Given the description of an element on the screen output the (x, y) to click on. 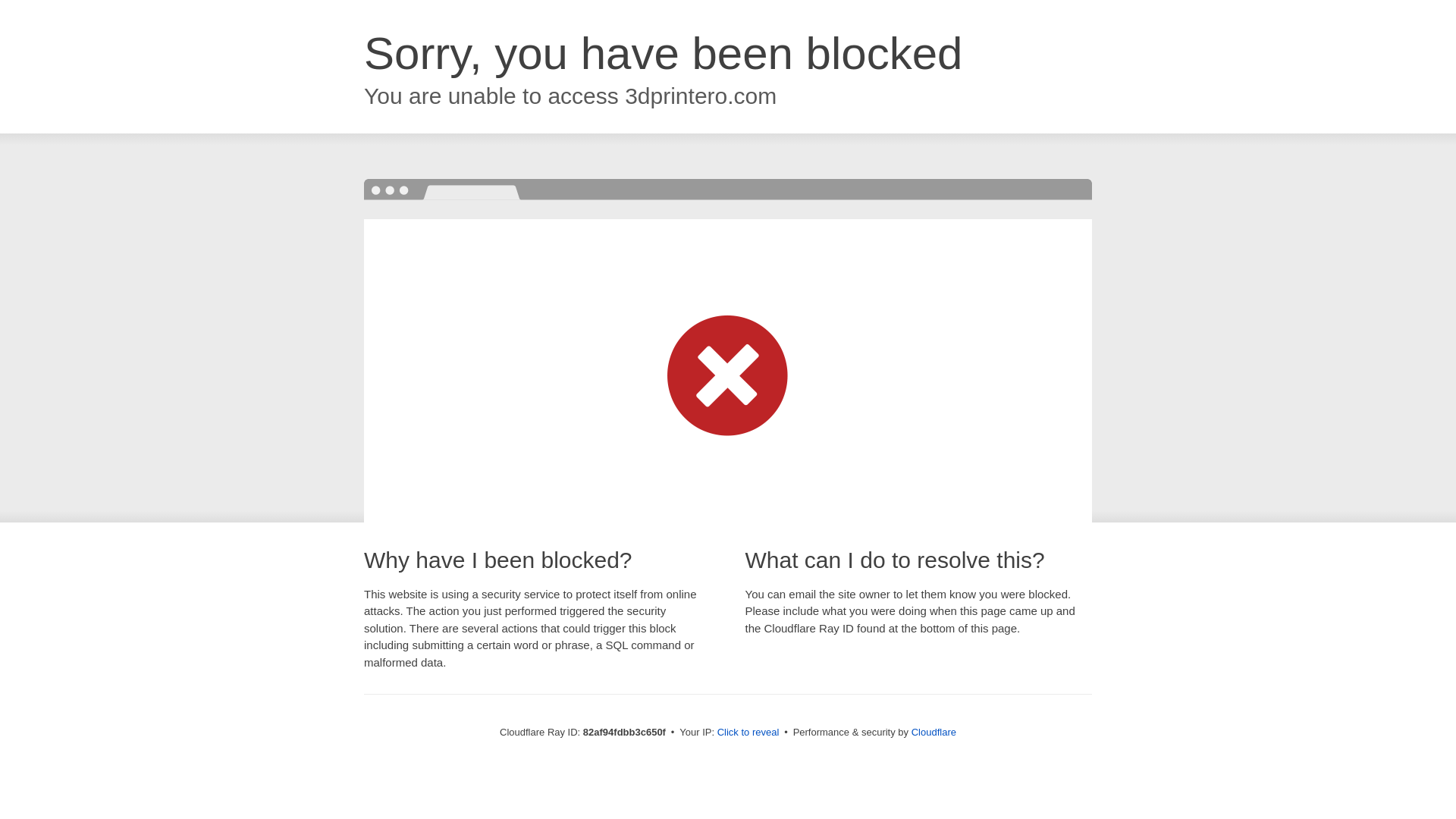
Click to reveal Element type: text (748, 732)
Cloudflare Element type: text (933, 731)
